Given the description of an element on the screen output the (x, y) to click on. 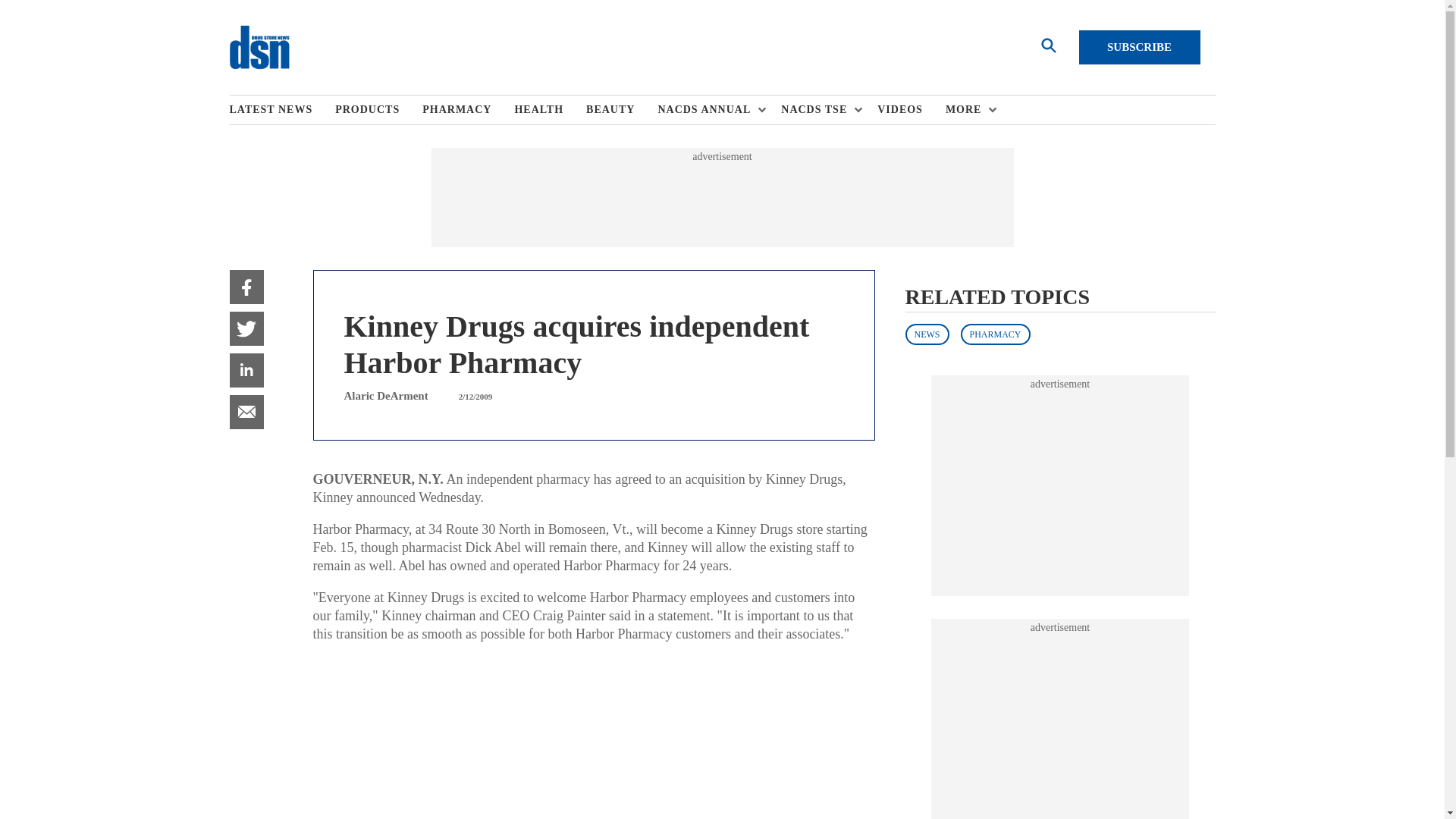
VIDEOS (910, 109)
LATEST NEWS (281, 109)
PRODUCTS (378, 109)
linkedIn (245, 369)
HEALTH (549, 109)
3rd party ad content (1059, 726)
NEWS (927, 333)
twitter (245, 328)
NACDS ANNUAL (708, 109)
MORE (967, 109)
